Given the description of an element on the screen output the (x, y) to click on. 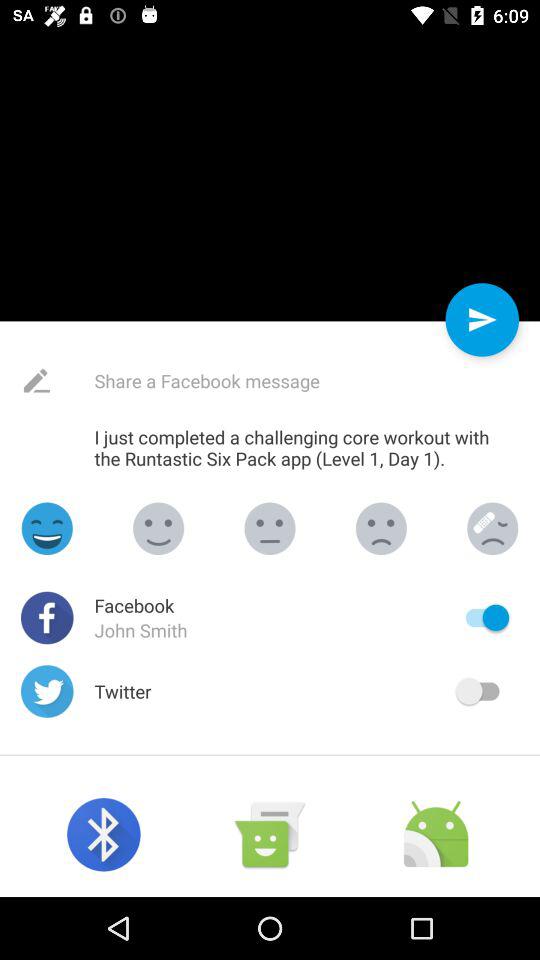
share the article (254, 380)
